Given the description of an element on the screen output the (x, y) to click on. 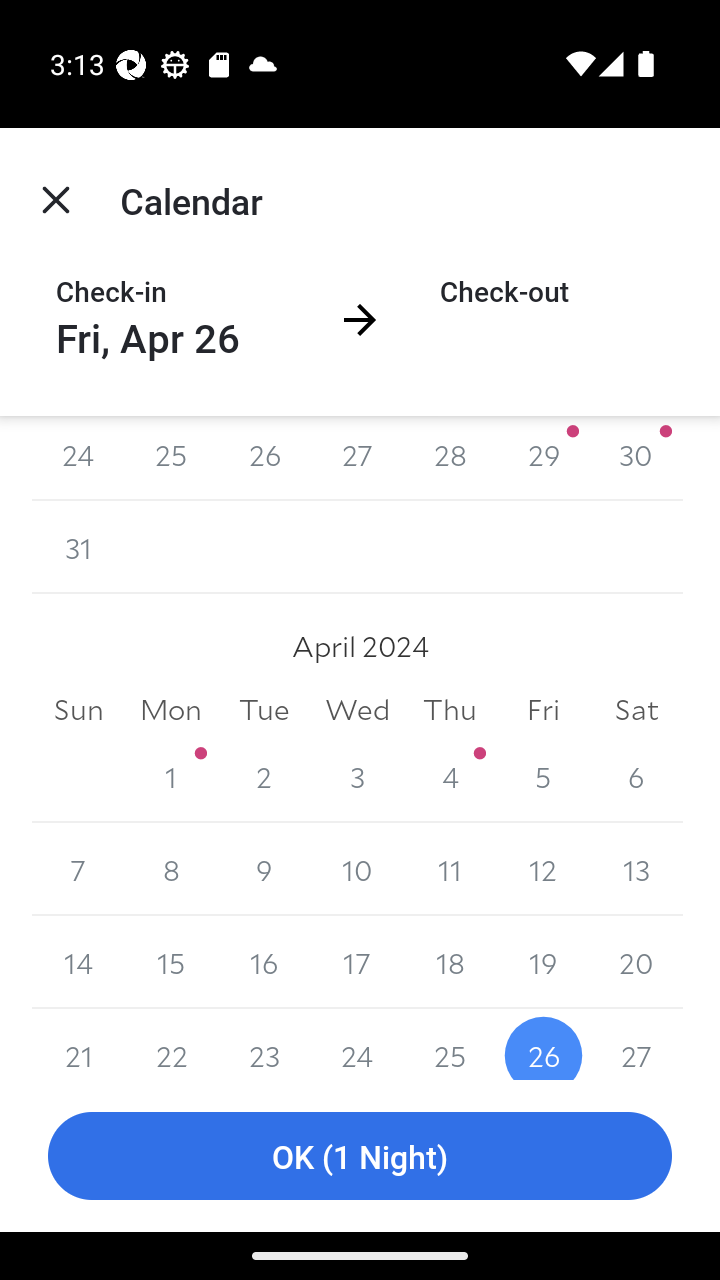
24 24 March 2024 (78, 458)
25 25 March 2024 (171, 458)
26 26 March 2024 (264, 458)
27 27 March 2024 (357, 458)
28 28 March 2024 (449, 458)
29 29 March 2024 (542, 458)
30 30 March 2024 (636, 458)
31 31 March 2024 (78, 546)
Sun (78, 708)
Mon (171, 708)
Tue (264, 708)
Wed (357, 708)
Thu (449, 708)
Fri (542, 708)
Sat (636, 708)
1 1 April 2024 (171, 776)
2 2 April 2024 (264, 776)
3 3 April 2024 (357, 776)
4 4 April 2024 (449, 776)
5 5 April 2024 (542, 776)
6 6 April 2024 (636, 776)
7 7 April 2024 (78, 869)
8 8 April 2024 (171, 869)
9 9 April 2024 (264, 869)
10 10 April 2024 (357, 869)
11 11 April 2024 (449, 869)
12 12 April 2024 (542, 869)
13 13 April 2024 (636, 869)
14 14 April 2024 (78, 962)
15 15 April 2024 (171, 962)
16 16 April 2024 (264, 962)
17 17 April 2024 (357, 962)
18 18 April 2024 (449, 962)
19 19 April 2024 (542, 962)
20 20 April 2024 (636, 962)
21 21 April 2024 (78, 1044)
22 22 April 2024 (171, 1044)
23 23 April 2024 (264, 1044)
24 24 April 2024 (357, 1044)
25 25 April 2024 (449, 1044)
26 26 April 2024 (542, 1044)
27 27 April 2024 (636, 1044)
OK (1 Night) (359, 1156)
